Given the description of an element on the screen output the (x, y) to click on. 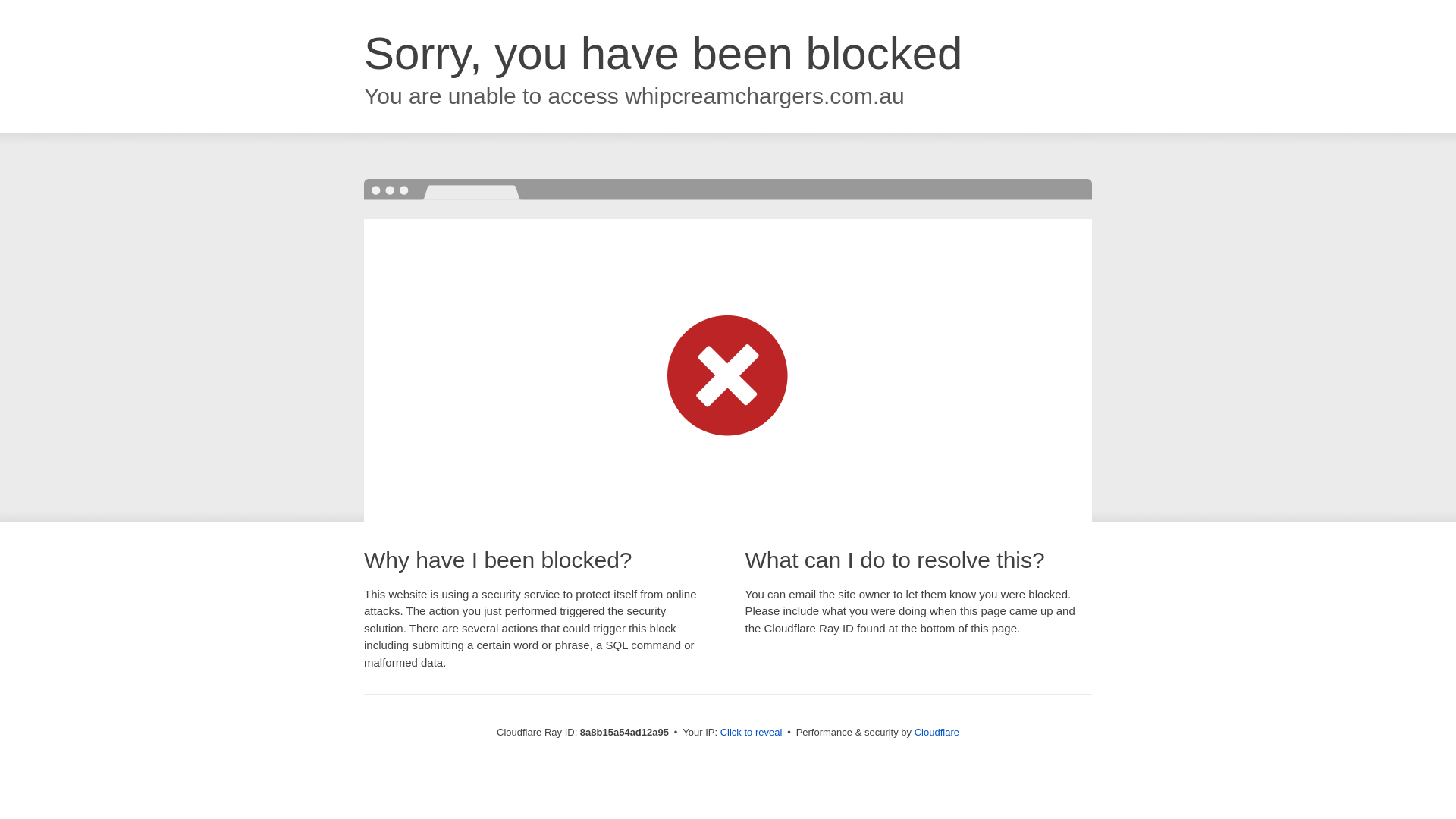
Cloudflare (936, 731)
Click to reveal (751, 732)
